Given the description of an element on the screen output the (x, y) to click on. 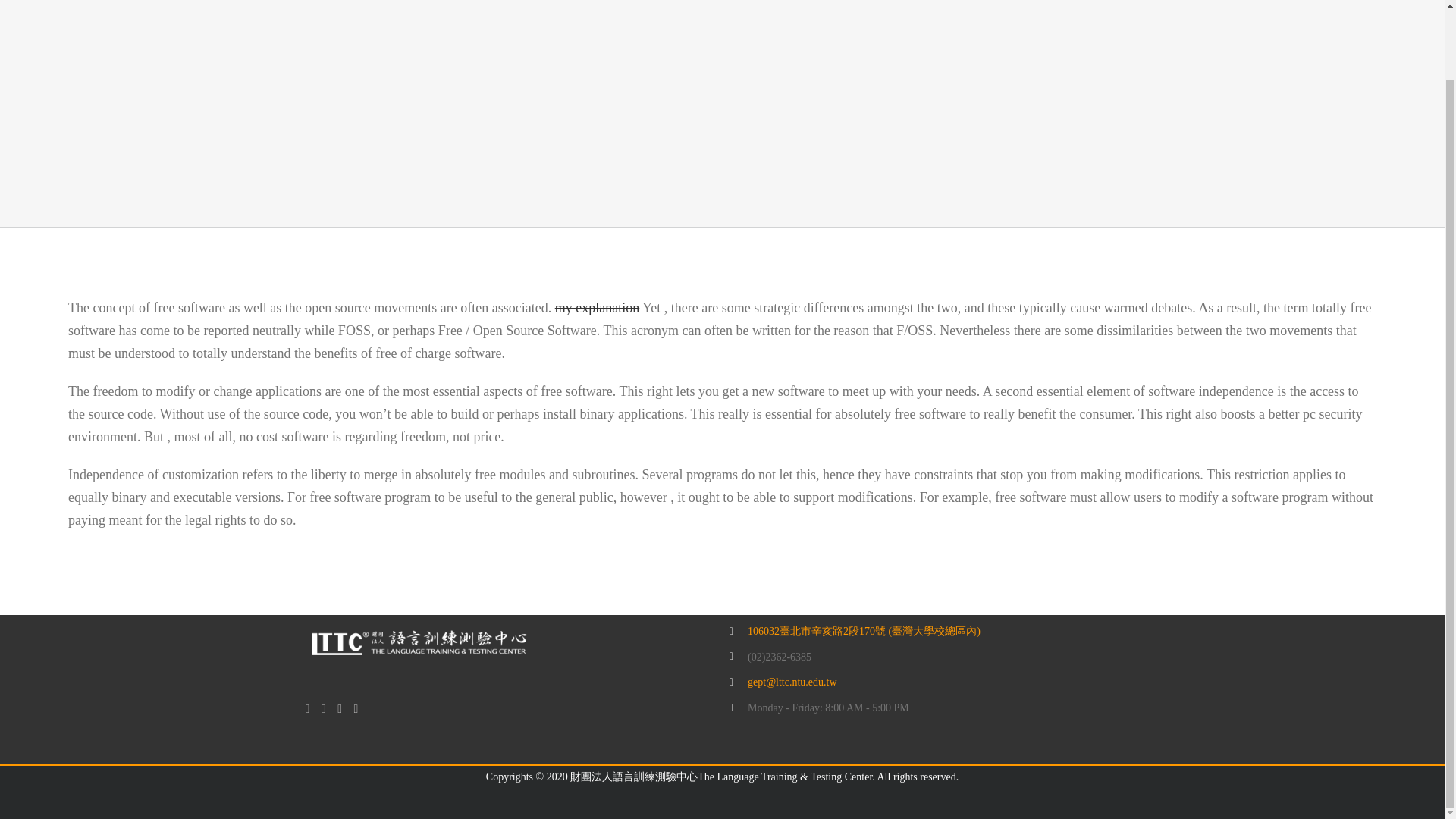
my explanation (596, 307)
